Given the description of an element on the screen output the (x, y) to click on. 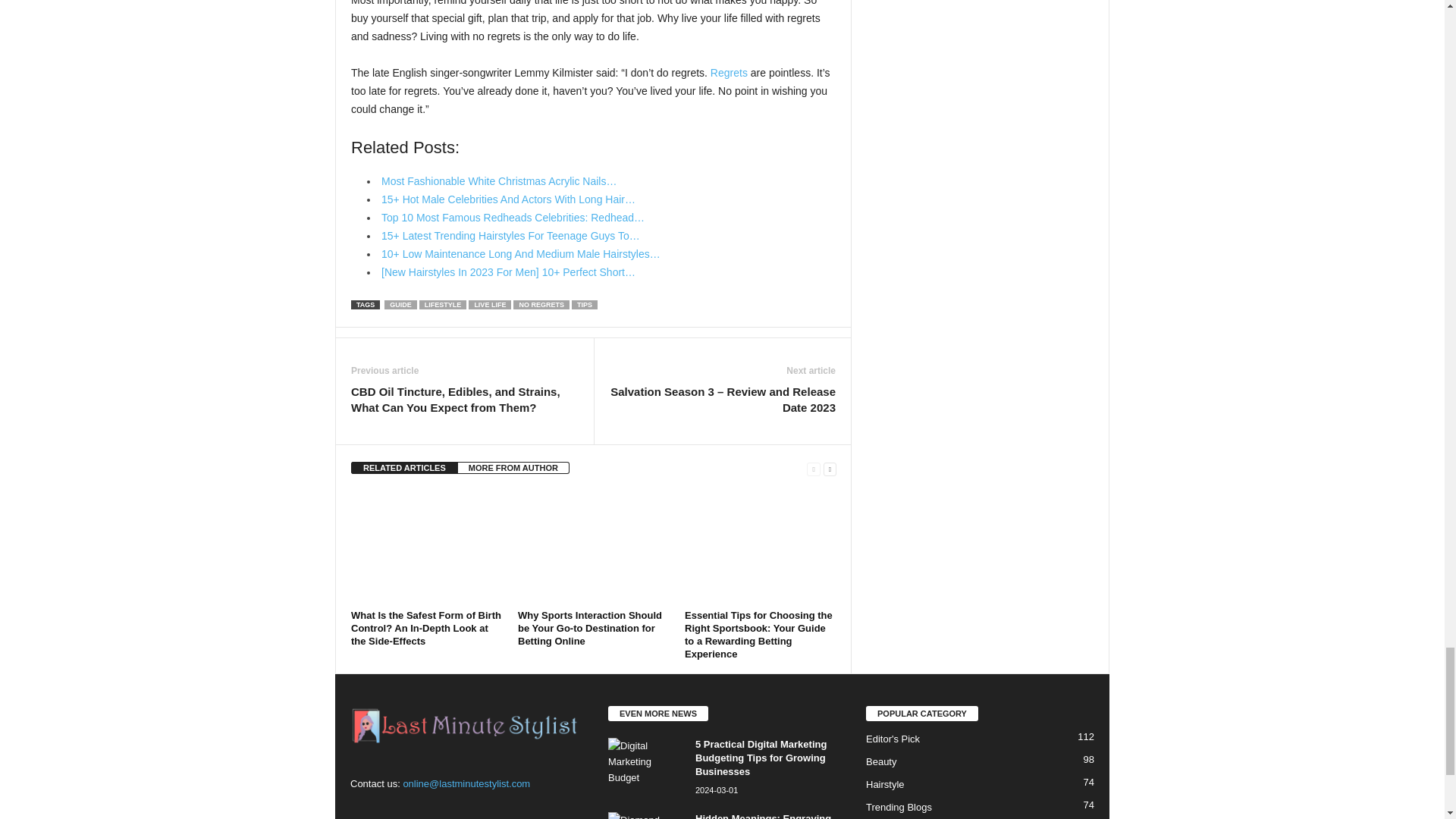
Regrets (729, 72)
